Given the description of an element on the screen output the (x, y) to click on. 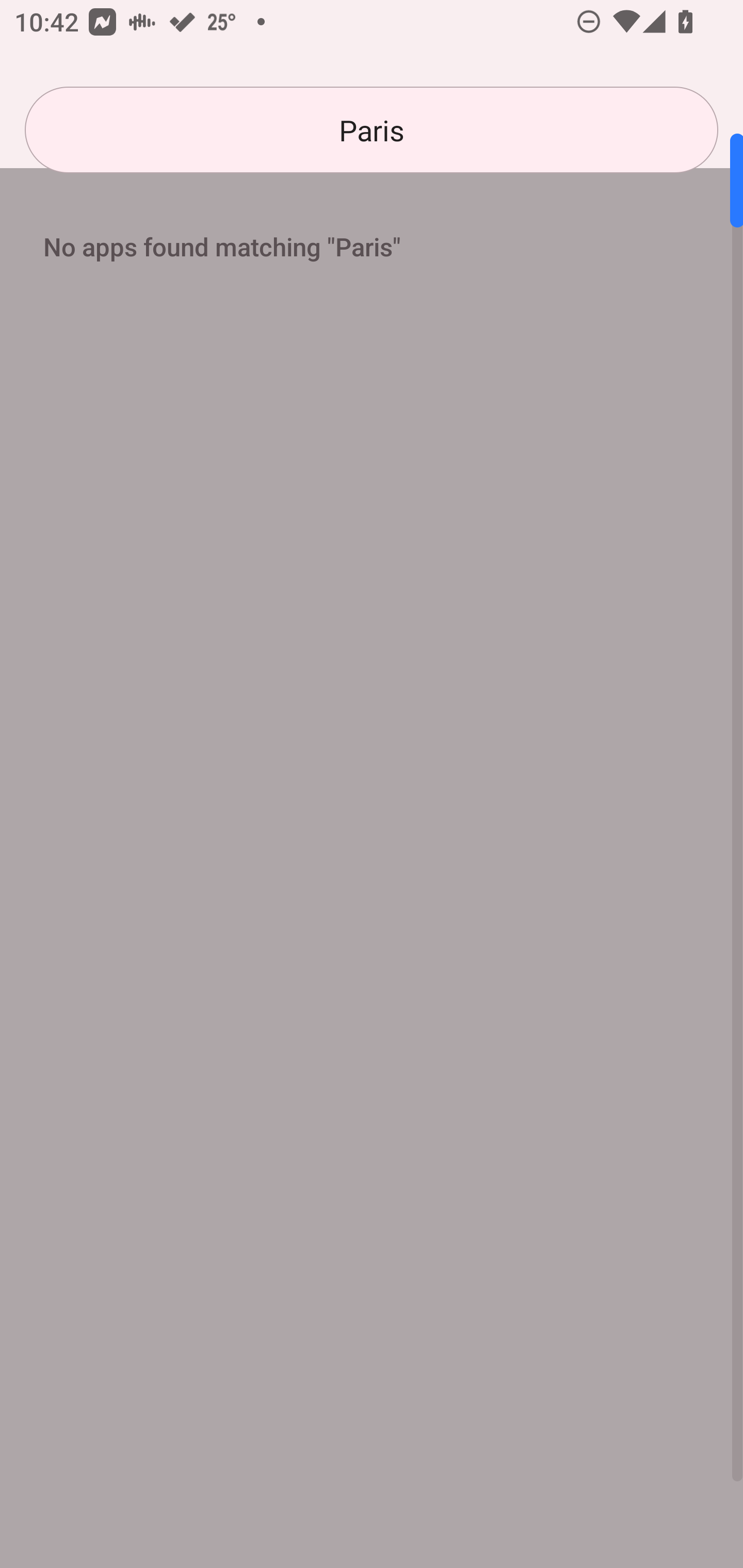
Paris (371, 130)
